Given the description of an element on the screen output the (x, y) to click on. 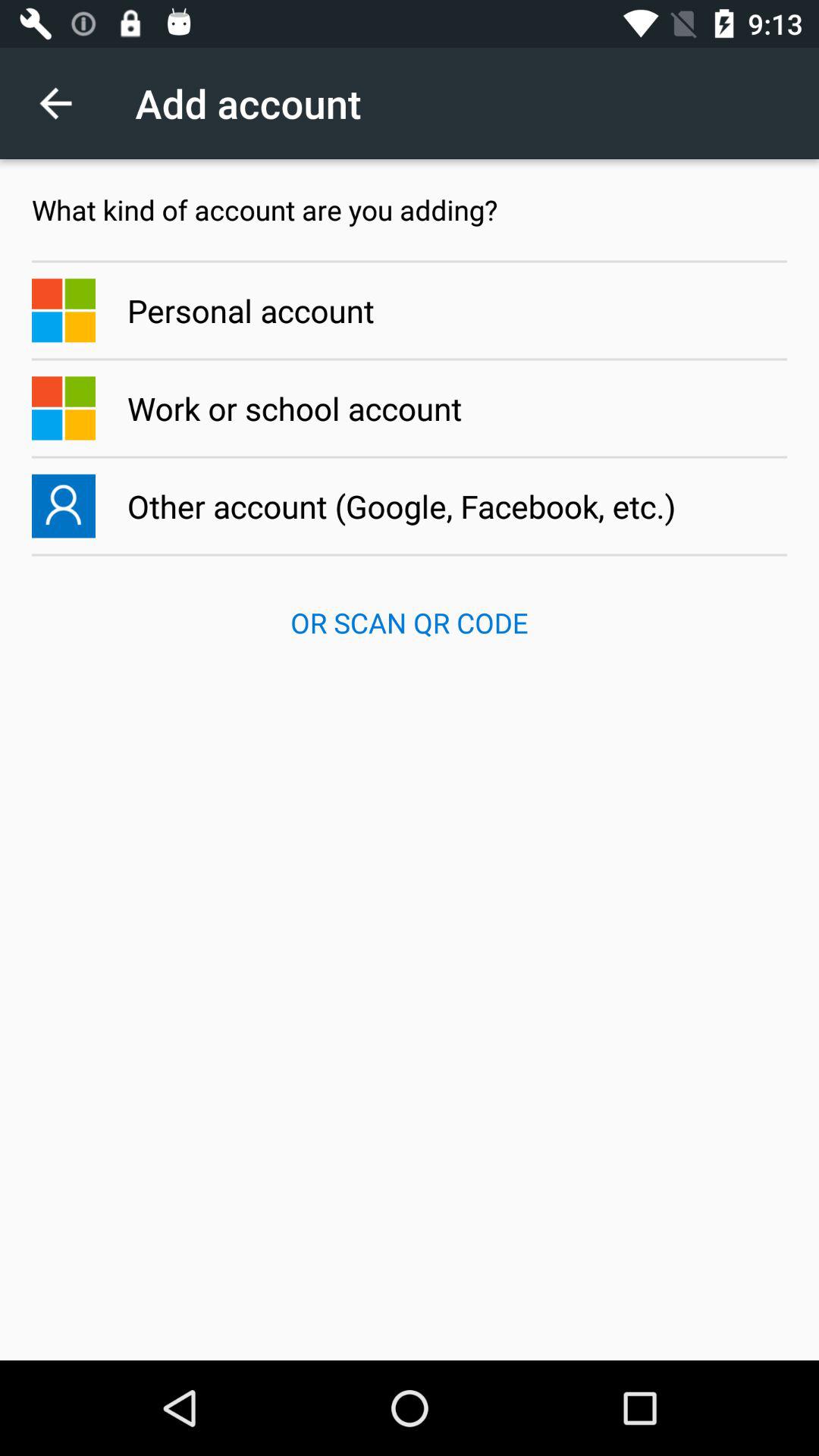
choose item next to add account app (63, 103)
